Given the description of an element on the screen output the (x, y) to click on. 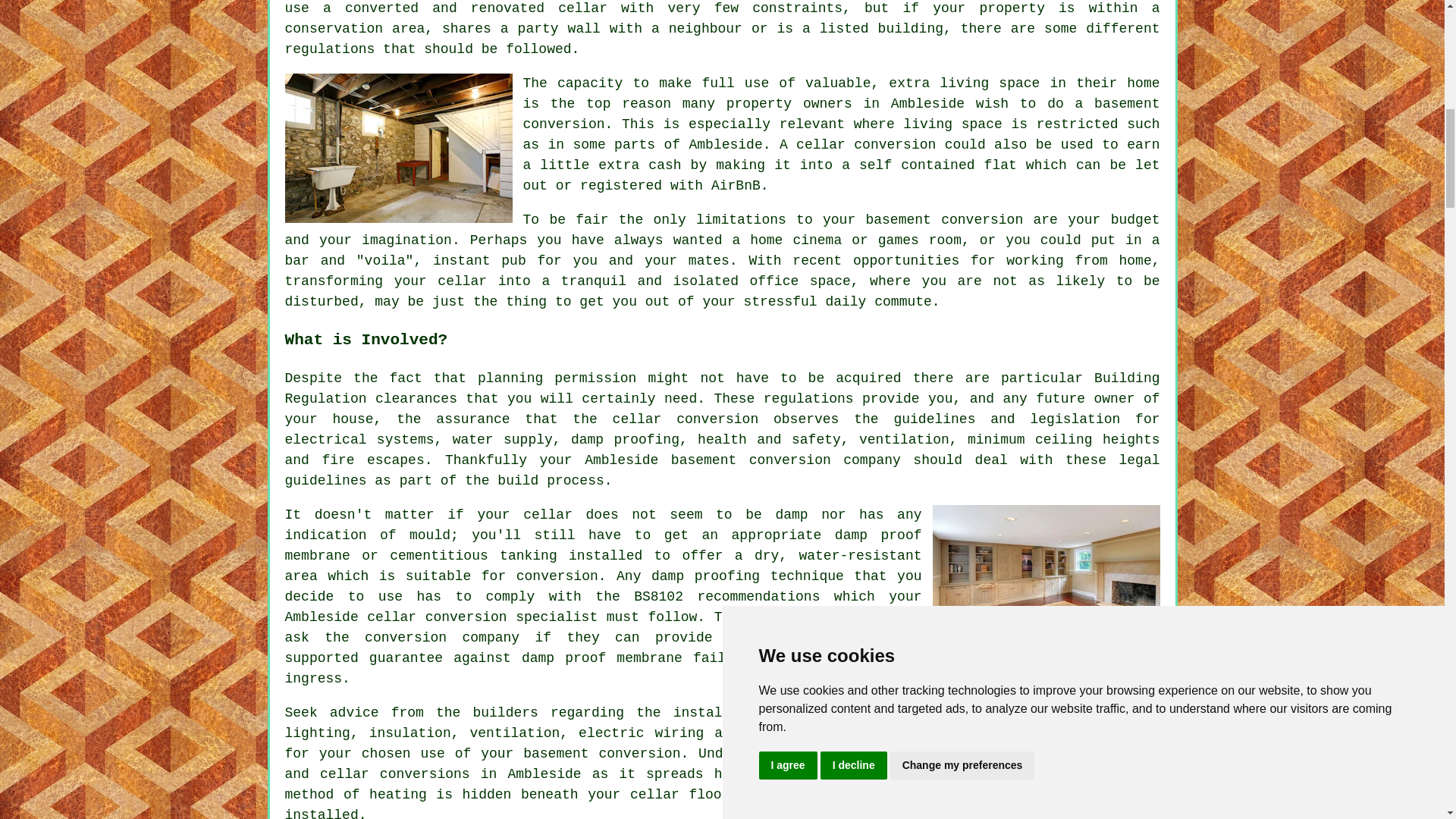
Basement Conversion Ambleside Cumbria (1046, 579)
conversion (981, 219)
